Given the description of an element on the screen output the (x, y) to click on. 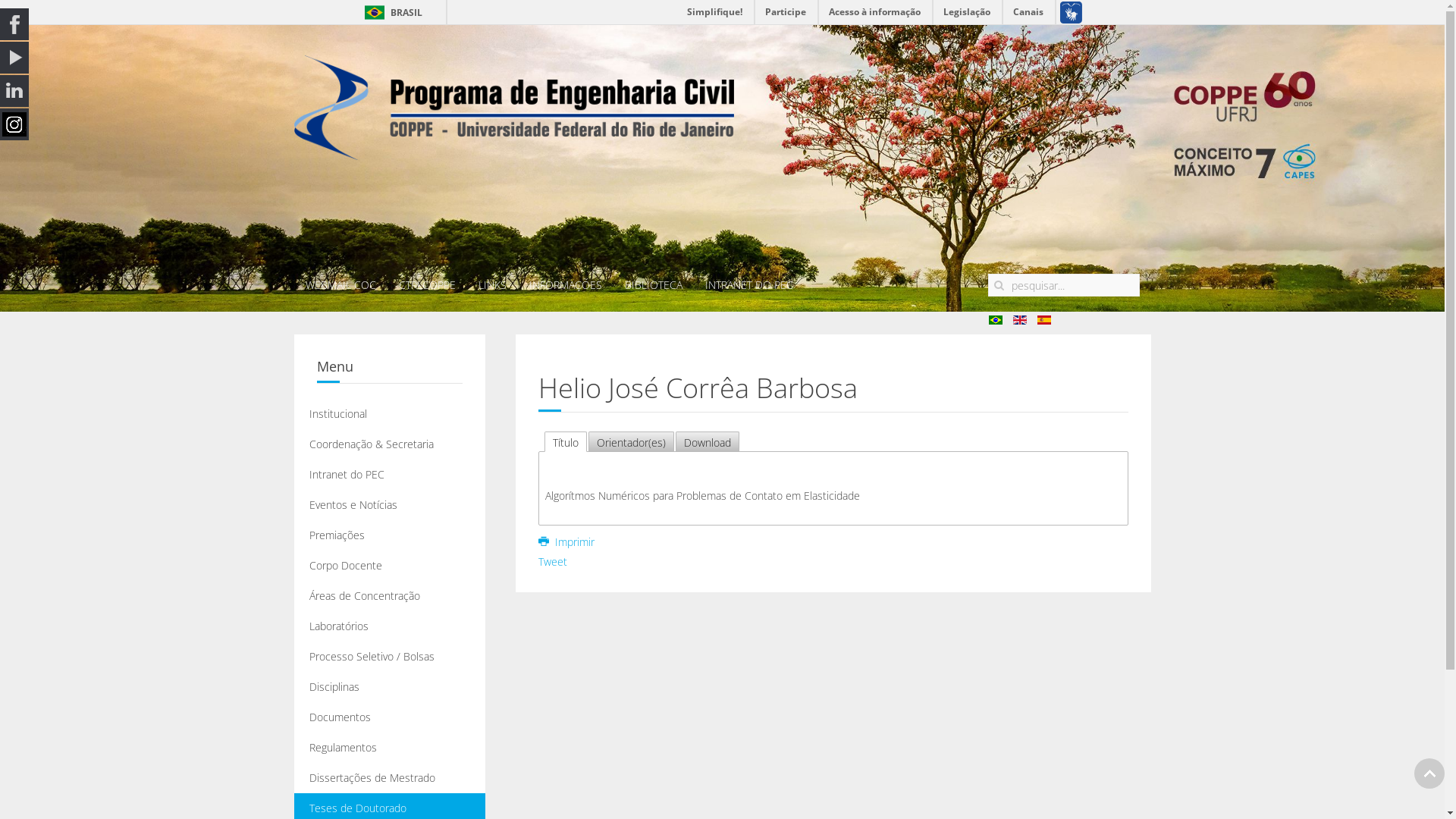
    Element type: text (514, 141)
Download Element type: text (707, 441)
CTRLCOPPE Element type: text (426, 284)
INTRANET DO PEC Element type: text (748, 284)
Intranet do PEC Element type: text (390, 474)
Imprimir Element type: text (566, 541)
Institucional Element type: text (390, 413)
BIBLIOTECA Element type: text (652, 284)
Regulamentos Element type: text (390, 747)
Processo Seletivo / Bolsas Element type: text (390, 656)
WEBMAIL COC Element type: text (340, 284)
English (UK) Element type: hover (1019, 319)
Disciplinas Element type: text (390, 686)
Documentos Element type: text (390, 717)
LINKS Element type: text (492, 284)
BRASIL Element type: text (389, 12)
Orientador(es) Element type: text (631, 441)
Corpo Docente Element type: text (390, 565)
Tweet Element type: text (552, 561)
pt Element type: hover (995, 319)
es Element type: hover (1044, 319)
